Given the description of an element on the screen output the (x, y) to click on. 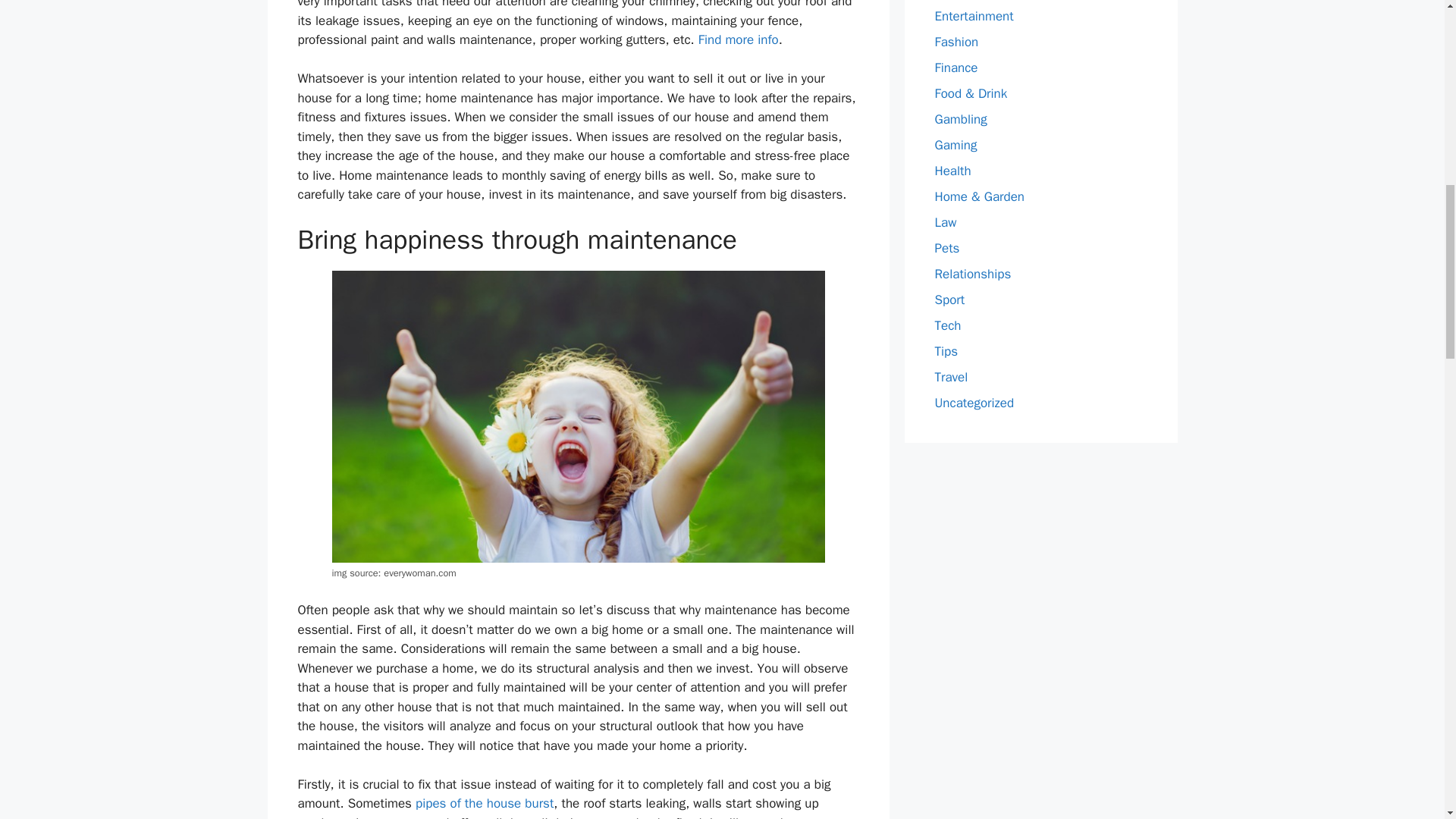
pipes of the house burst (483, 803)
Find more info (738, 39)
